Given the description of an element on the screen output the (x, y) to click on. 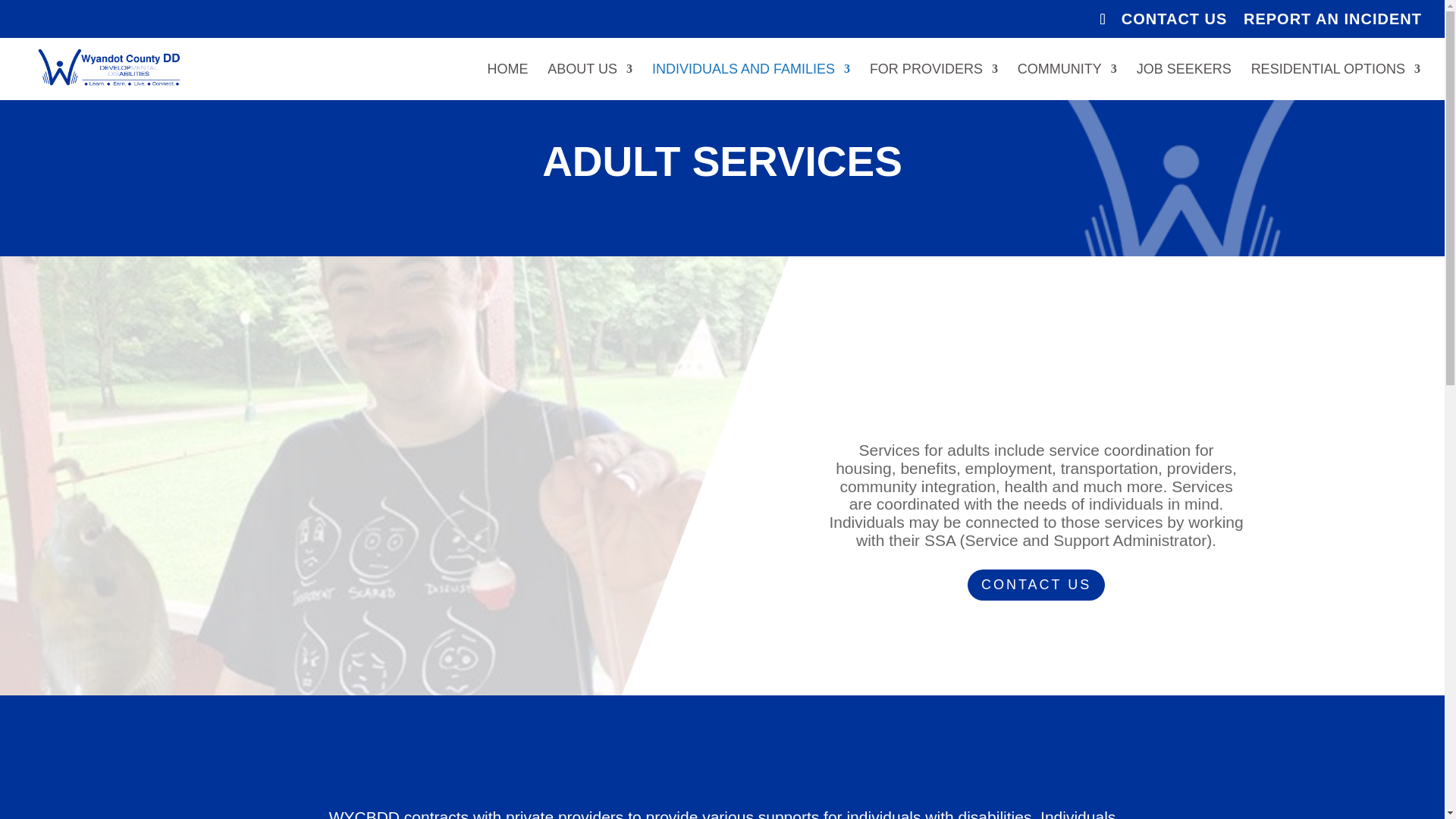
CONTACT US (1174, 24)
FOR PROVIDERS (933, 81)
JOB SEEKERS (1184, 81)
ABOUT US (589, 81)
RESIDENTIAL OPTIONS (1335, 81)
HOME (506, 81)
INDIVIDUALS AND FAMILIES (751, 81)
REPORT AN INCIDENT (1332, 24)
COMMUNITY (1066, 81)
